Given the description of an element on the screen output the (x, y) to click on. 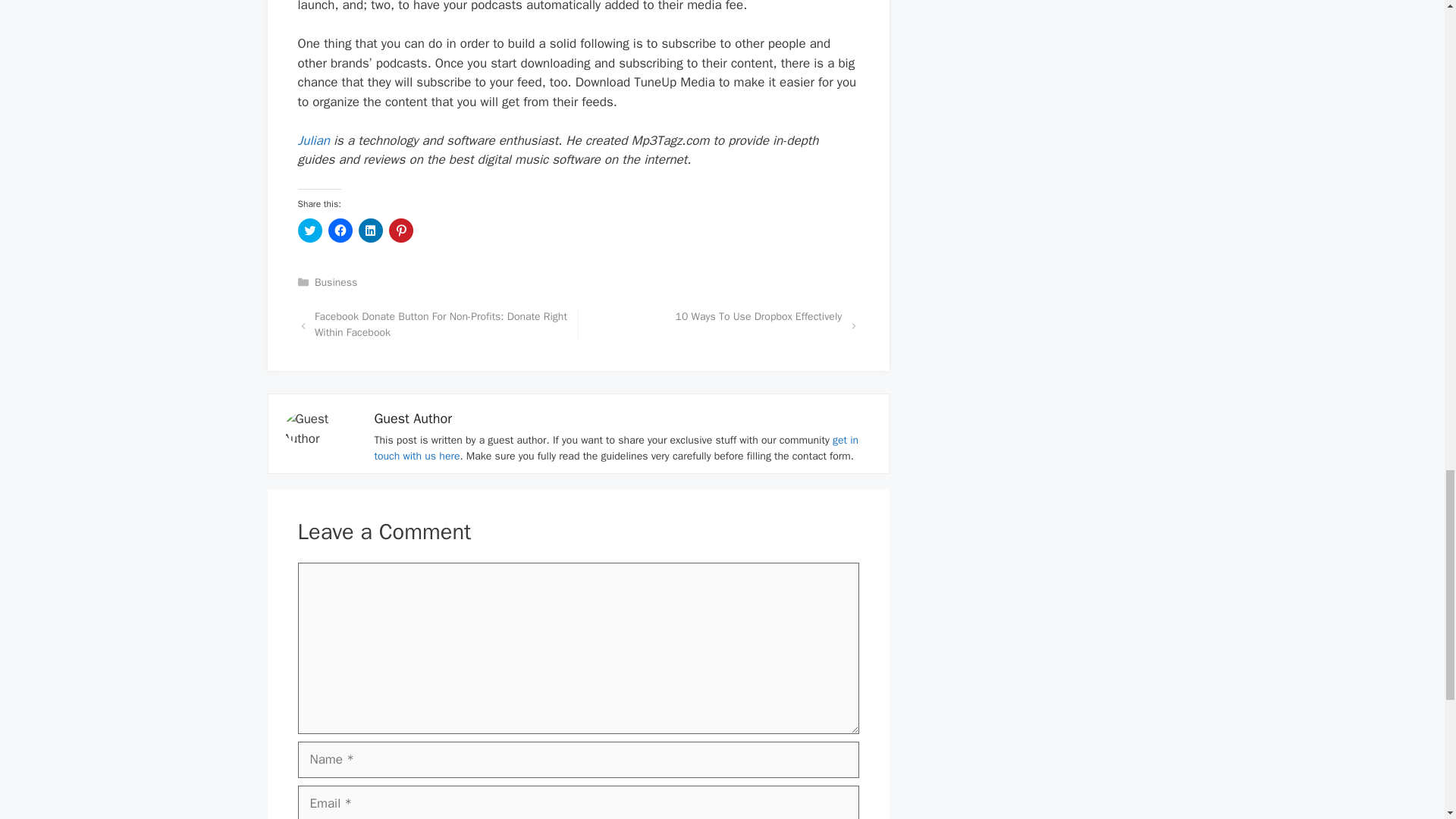
Julian (313, 140)
Click to share on Pinterest (400, 230)
10 Ways To Use Dropbox Effectively (759, 316)
Guest Author (412, 418)
get in touch with us here (616, 448)
Click to share on Twitter (309, 230)
Click to share on LinkedIn (369, 230)
Click to share on Facebook (339, 230)
Business (335, 282)
